Given the description of an element on the screen output the (x, y) to click on. 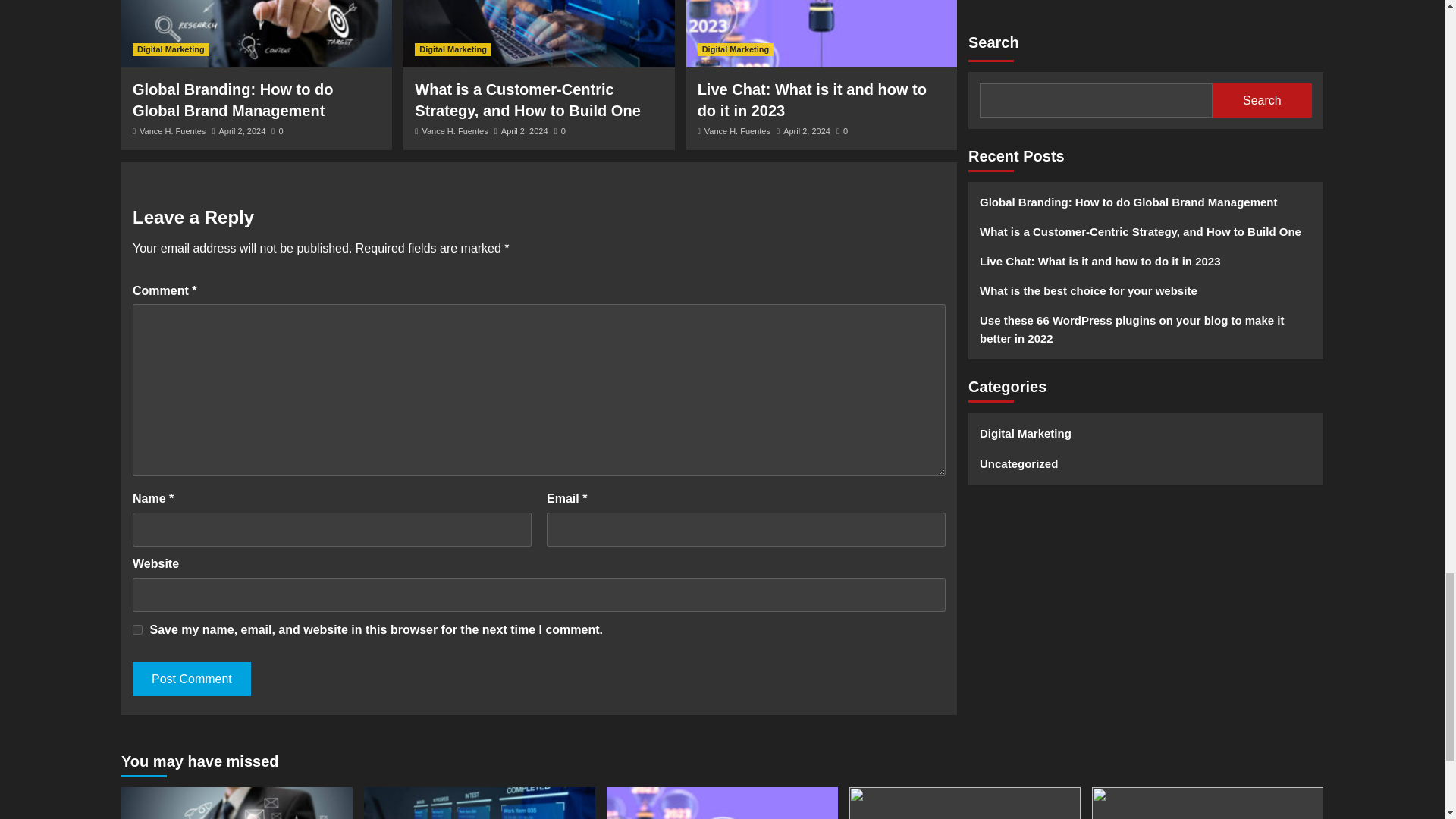
Live Chat: What is it and how to do it in 2023 (811, 99)
Digital Marketing (453, 49)
0 (560, 130)
Vance H. Fuentes (172, 130)
Digital Marketing (735, 49)
April 2, 2024 (806, 130)
April 2, 2024 (524, 130)
Global Branding: How to do Global Brand Management (232, 99)
0 (276, 130)
yes (137, 629)
What is a Customer-Centric Strategy, and How to Build One (527, 99)
0 (841, 130)
Digital Marketing (170, 49)
Vance H. Fuentes (454, 130)
Post Comment (191, 678)
